Given the description of an element on the screen output the (x, y) to click on. 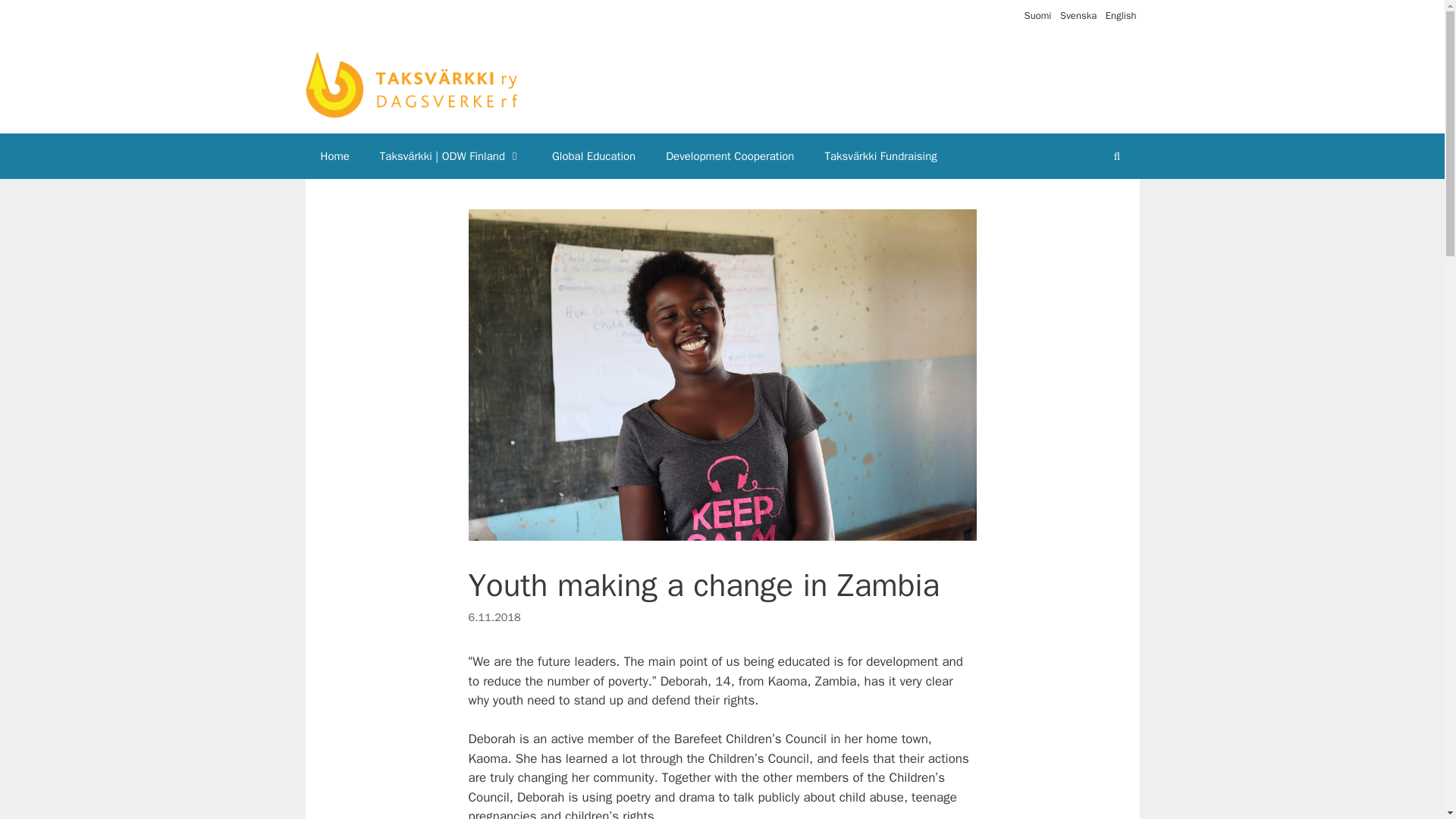
English (1121, 15)
Development Cooperation (729, 156)
Global Education (593, 156)
Home (334, 156)
Svenska (1077, 15)
Suomi (1038, 15)
